Given the description of an element on the screen output the (x, y) to click on. 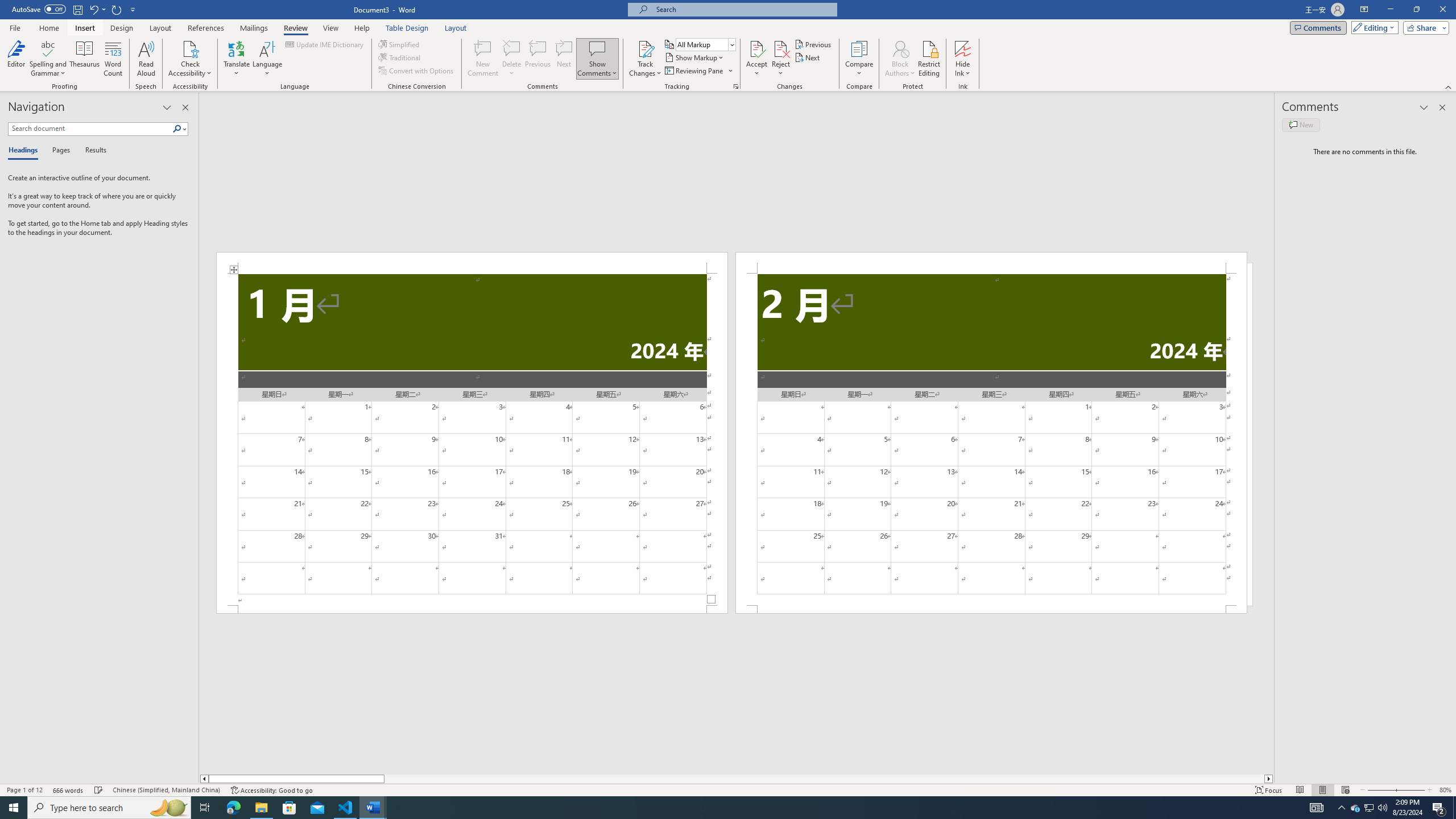
Column right (1268, 778)
Word Count (113, 58)
Page 1 content (471, 439)
Track Changes (644, 48)
Delete (511, 58)
Footer -Section 2- (991, 609)
New comment (1300, 124)
